Given the description of an element on the screen output the (x, y) to click on. 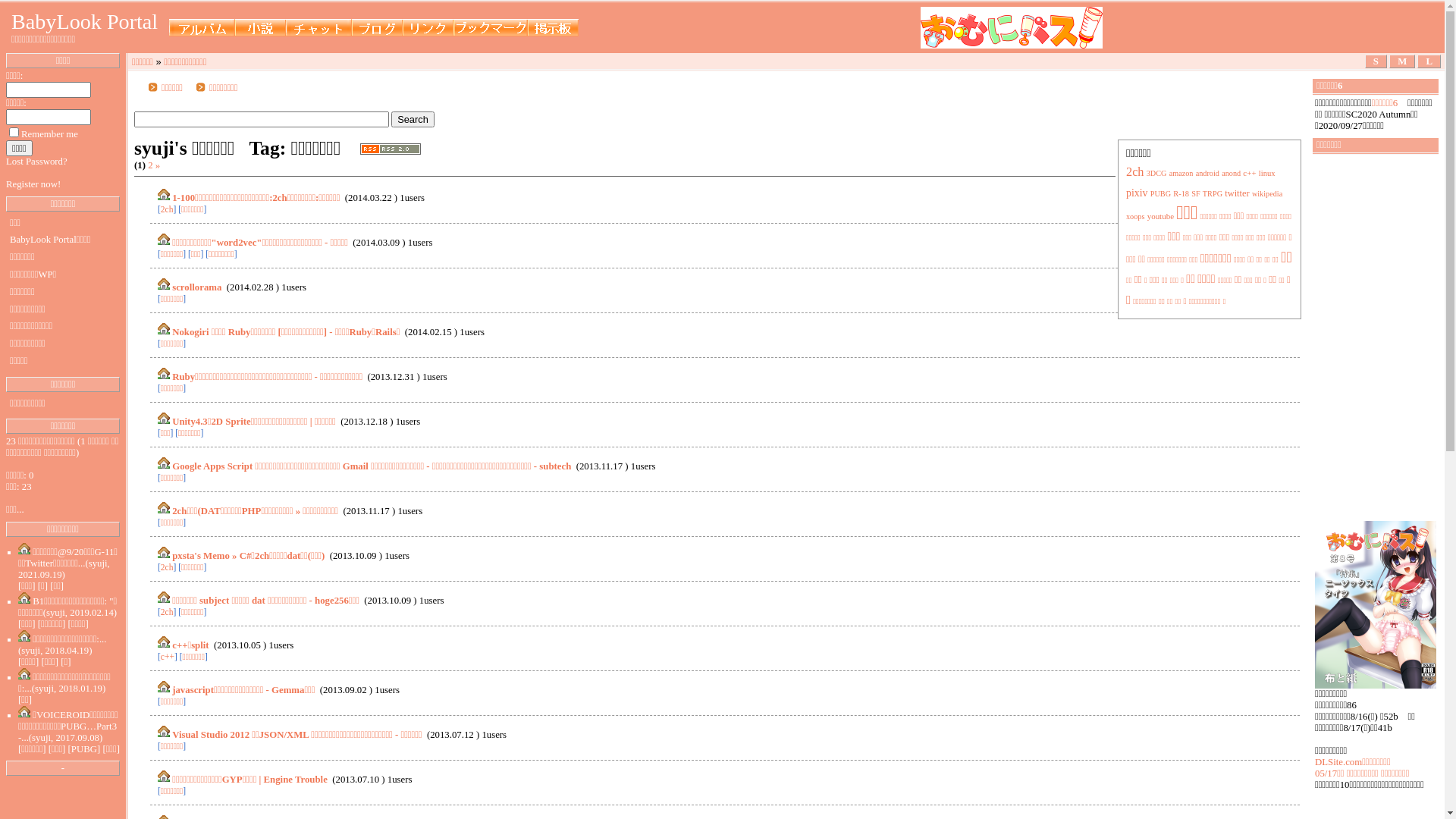
TRPG Element type: text (1212, 193)
BabyLook Portal Element type: text (84, 21)
Register now! Element type: text (33, 183)
pixiv Element type: text (1137, 192)
linux Element type: text (1266, 173)
S Element type: text (1375, 61)
R-18 Element type: text (1181, 193)
c++ Element type: text (167, 656)
amazon Element type: text (1181, 173)
L Element type: text (1428, 61)
PUBG Element type: text (1160, 193)
2ch Element type: text (166, 208)
anond Element type: text (1230, 173)
c++ Element type: text (1248, 172)
Search Element type: text (412, 119)
M Element type: text (1402, 61)
2ch Element type: text (1135, 171)
android Element type: text (1207, 173)
SF Element type: text (1195, 193)
wikipedia Element type: text (1267, 193)
twitter Element type: text (1236, 193)
2ch Element type: text (166, 611)
scrollorama Element type: text (196, 287)
youtube Element type: text (1160, 215)
2ch Element type: text (166, 566)
2 Element type: text (149, 165)
3DCG Element type: text (1156, 173)
xoops Element type: text (1135, 216)
Lost Password? Element type: text (36, 161)
PUBG Element type: text (84, 748)
